Given the description of an element on the screen output the (x, y) to click on. 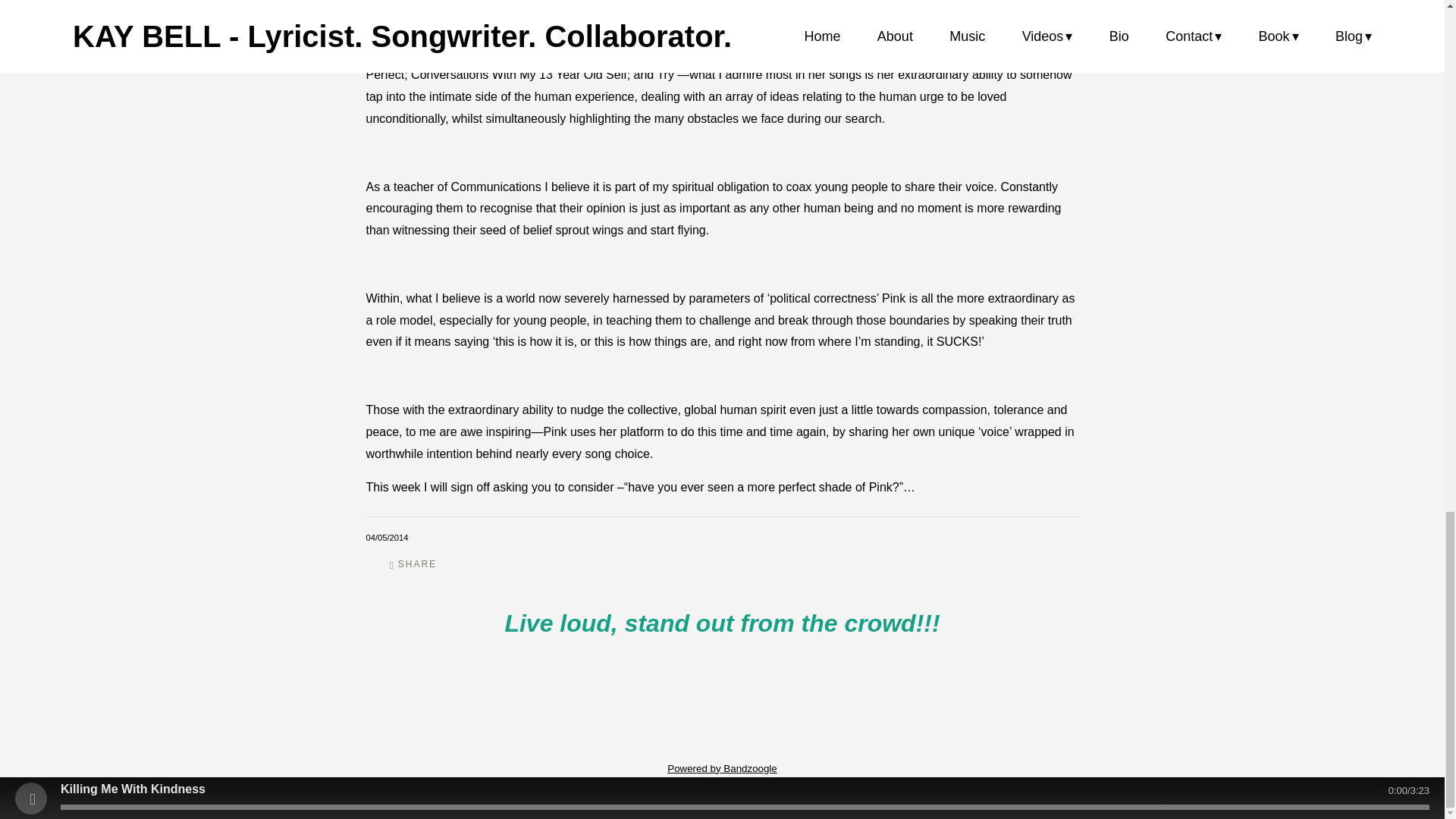
SHARE (413, 564)
Powered by Bandzoogle (721, 767)
April 05, 2014 12:00 (386, 537)
Powered by Bandzoogle (721, 767)
